Given the description of an element on the screen output the (x, y) to click on. 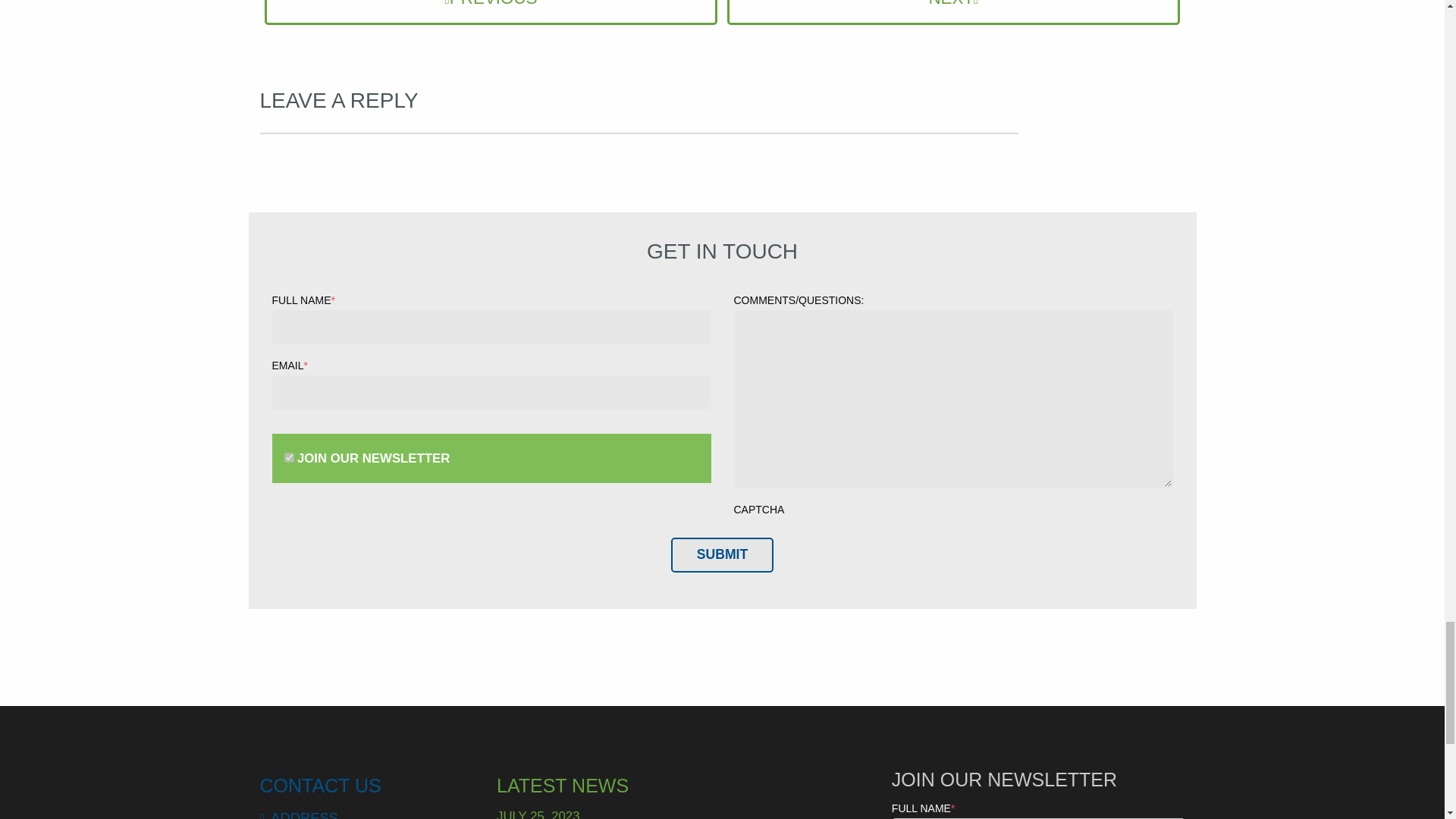
Submit (722, 554)
Join Our Newsletter (288, 457)
